Given the description of an element on the screen output the (x, y) to click on. 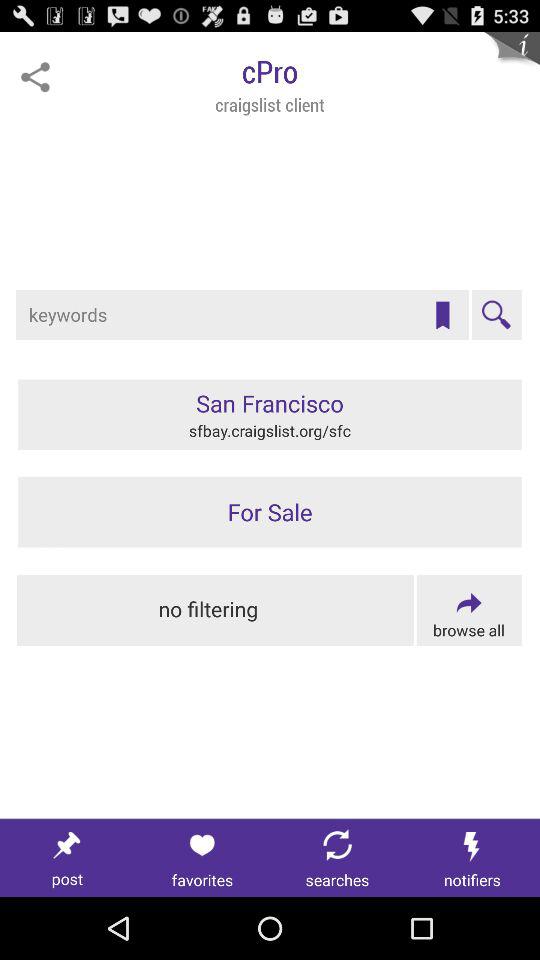
search without filtering (215, 610)
